Given the description of an element on the screen output the (x, y) to click on. 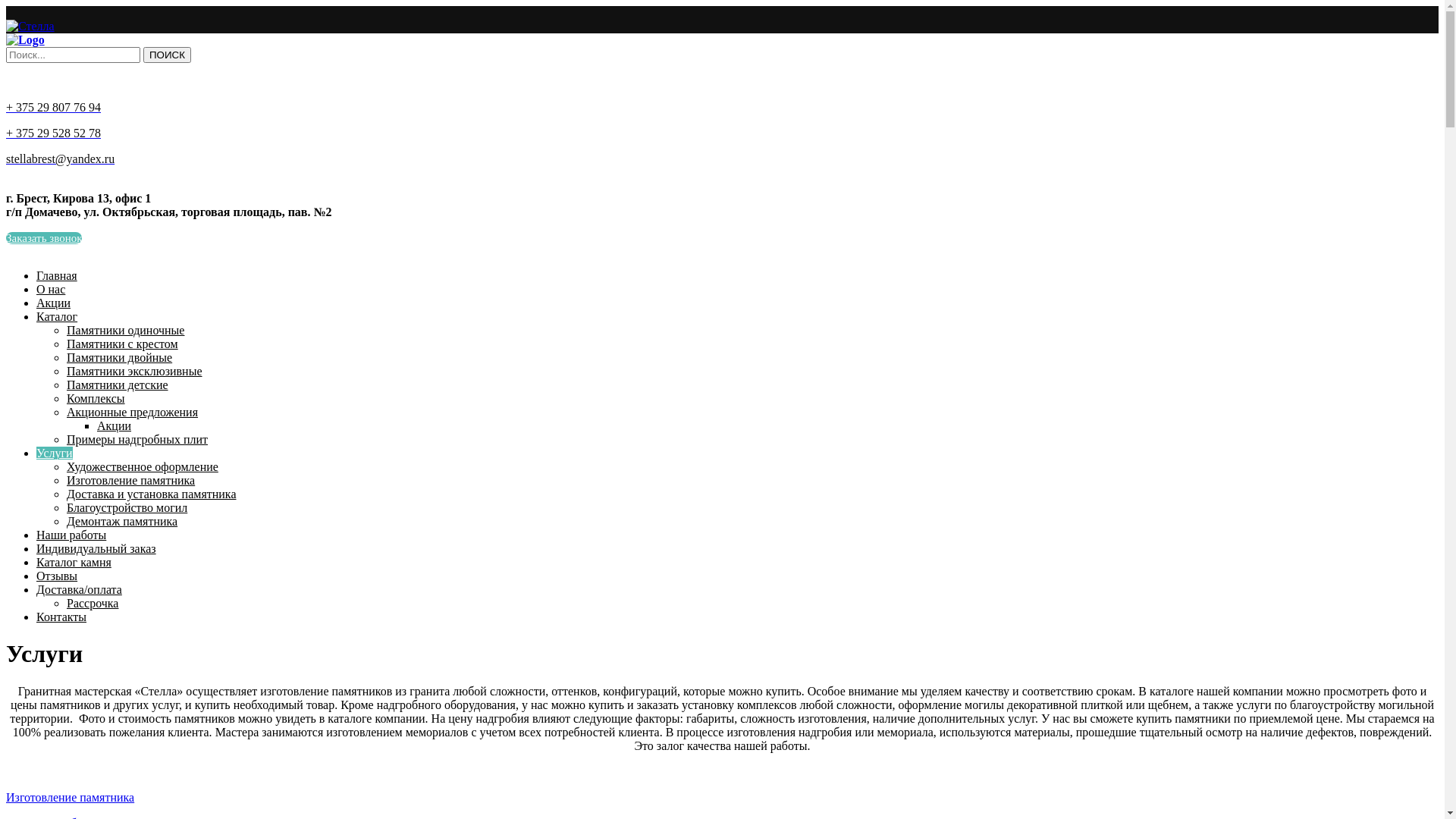
+ 375 29 528 52 78 Element type: text (53, 132)
stellabrest@yandex.ru Element type: text (60, 158)
+ 375 29 807 76 94 Element type: text (53, 106)
